Given the description of an element on the screen output the (x, y) to click on. 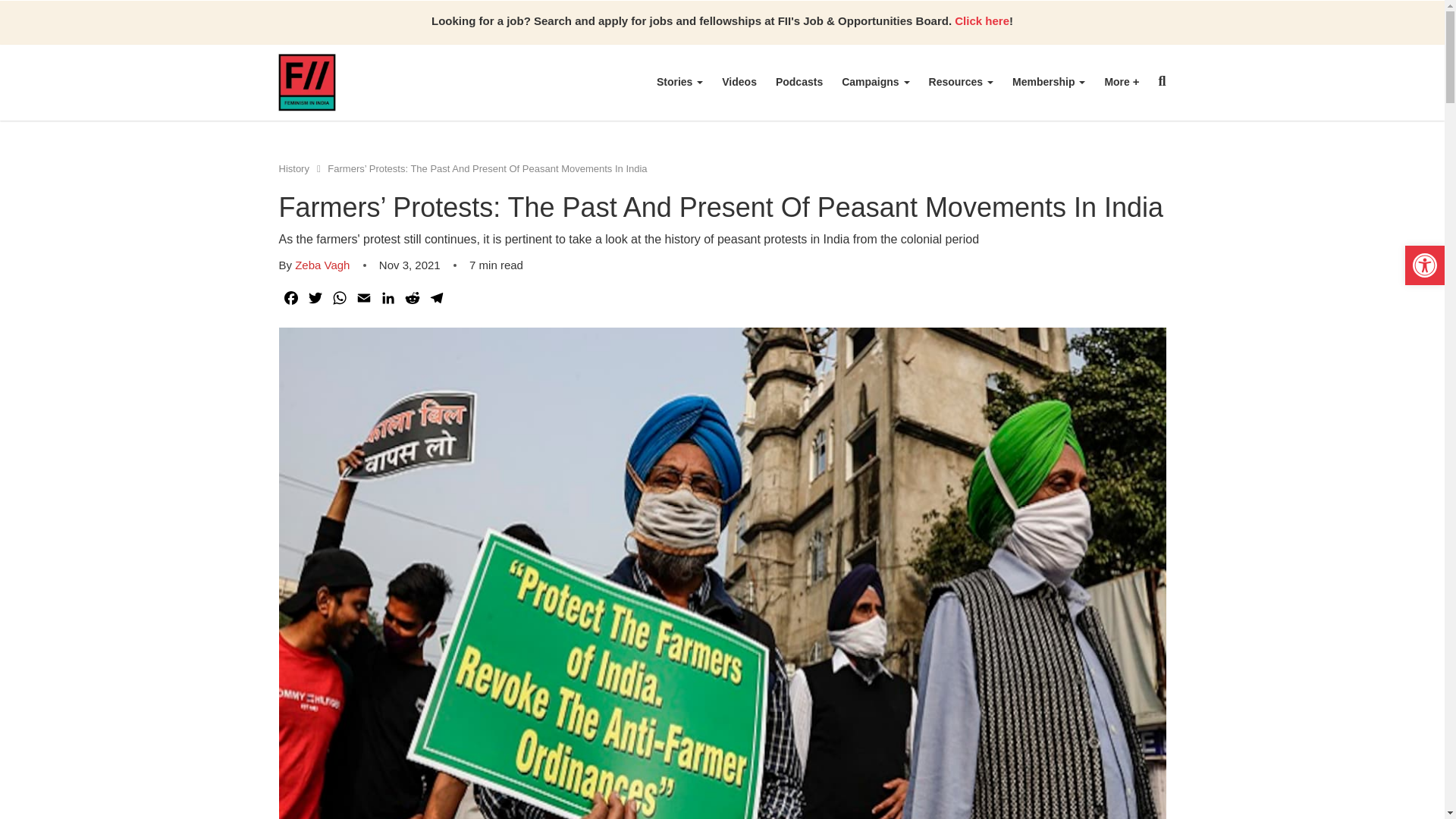
Accessibility Tools (1424, 265)
